Given the description of an element on the screen output the (x, y) to click on. 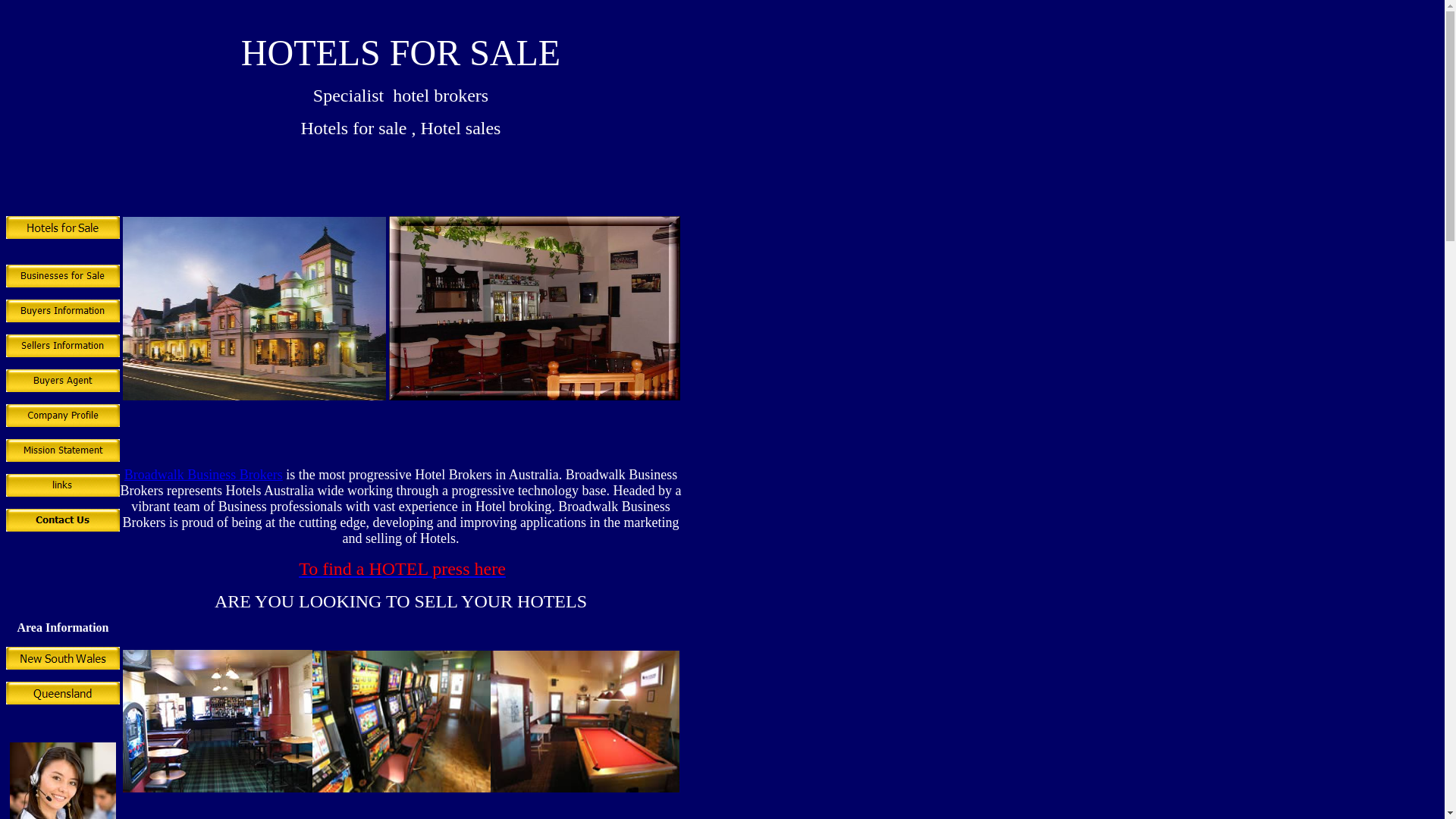
Broadwalk Business Brokers Element type: text (203, 474)
To find a HOTEL press here Element type: text (401, 568)
